Given the description of an element on the screen output the (x, y) to click on. 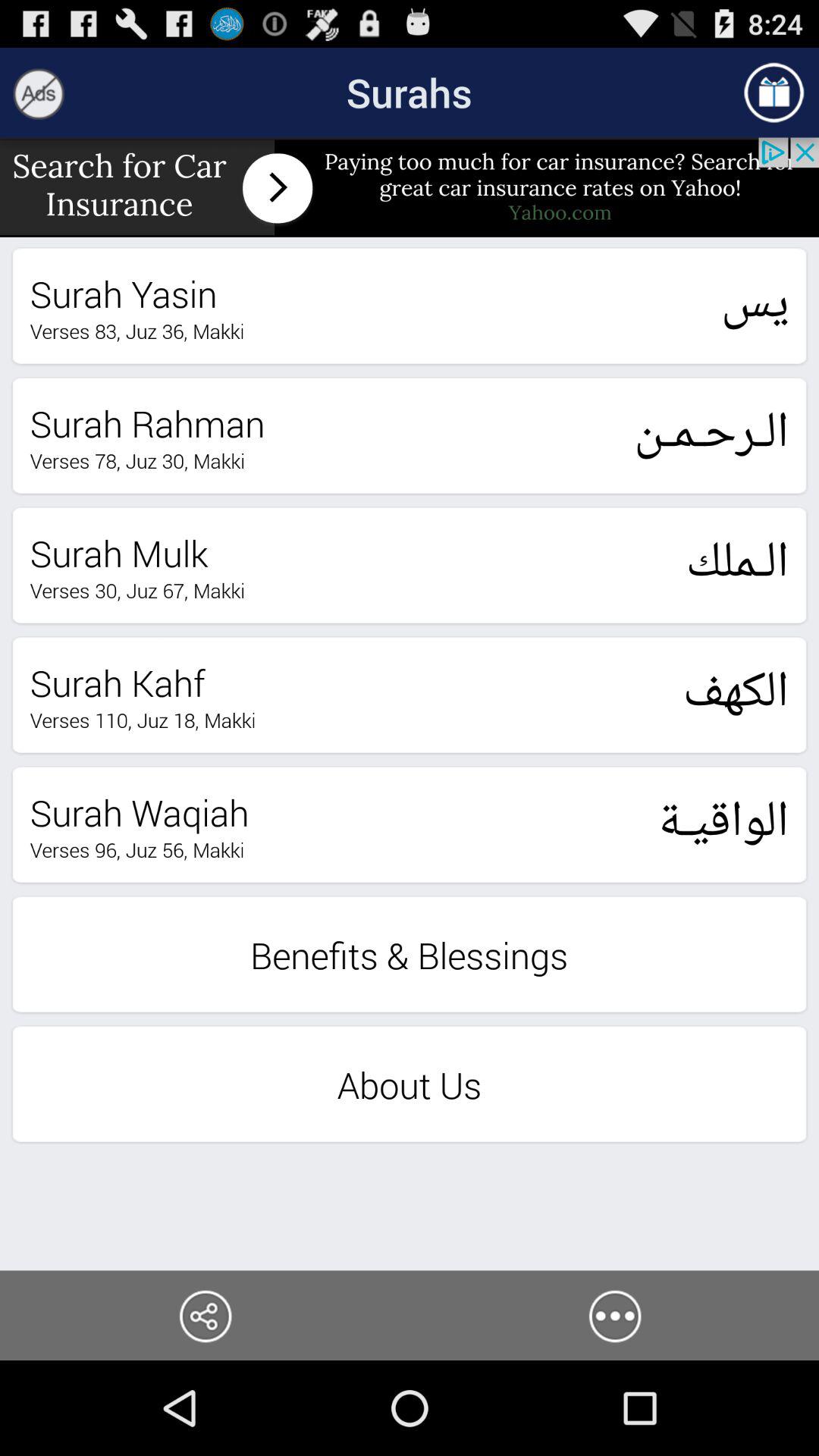
share the article (204, 1315)
